Given the description of an element on the screen output the (x, y) to click on. 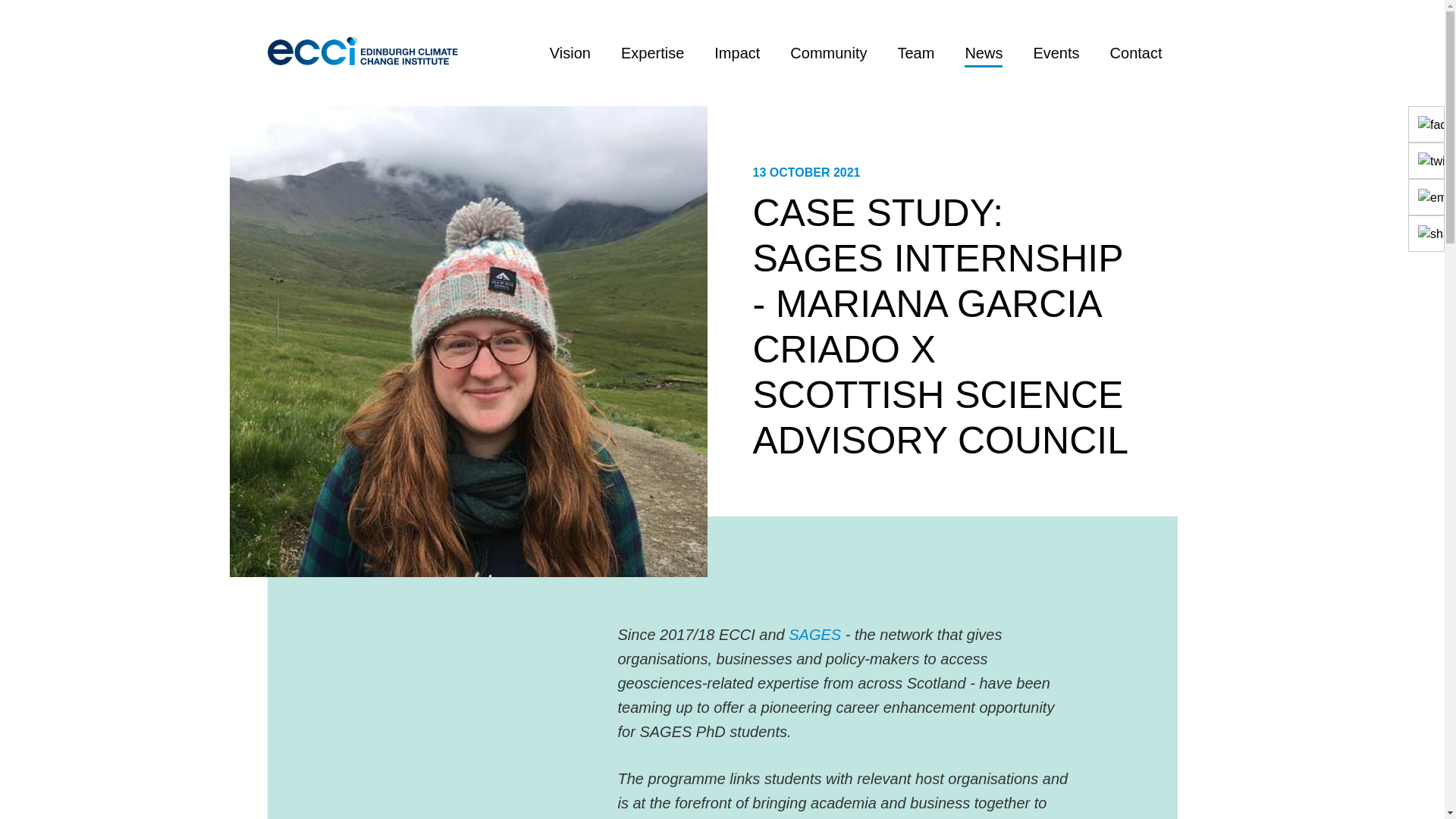
Vision (569, 52)
Community (828, 52)
Team (915, 52)
Events (1055, 52)
Expertise (651, 52)
SAGES (816, 634)
Contact (1135, 52)
News (983, 52)
Impact (736, 52)
Skip to the main content (14, 14)
